Given the description of an element on the screen output the (x, y) to click on. 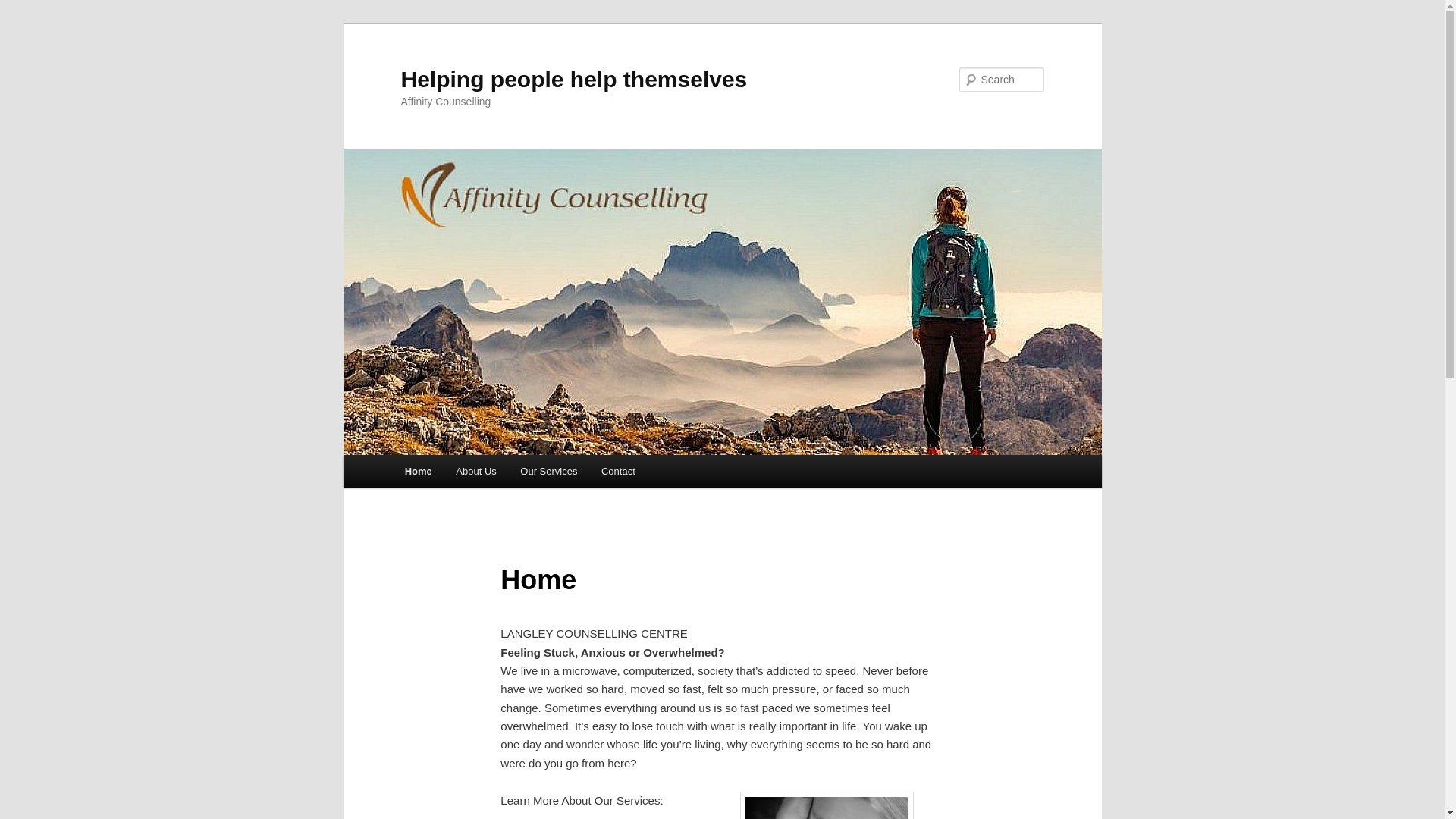
Contact Element type: text (617, 471)
Home Element type: text (418, 471)
Search Element type: text (24, 8)
Skip to primary content Element type: text (22, 22)
Helping people help themselves Element type: text (573, 78)
About Us Element type: text (476, 471)
Our Services Element type: text (548, 471)
